Given the description of an element on the screen output the (x, y) to click on. 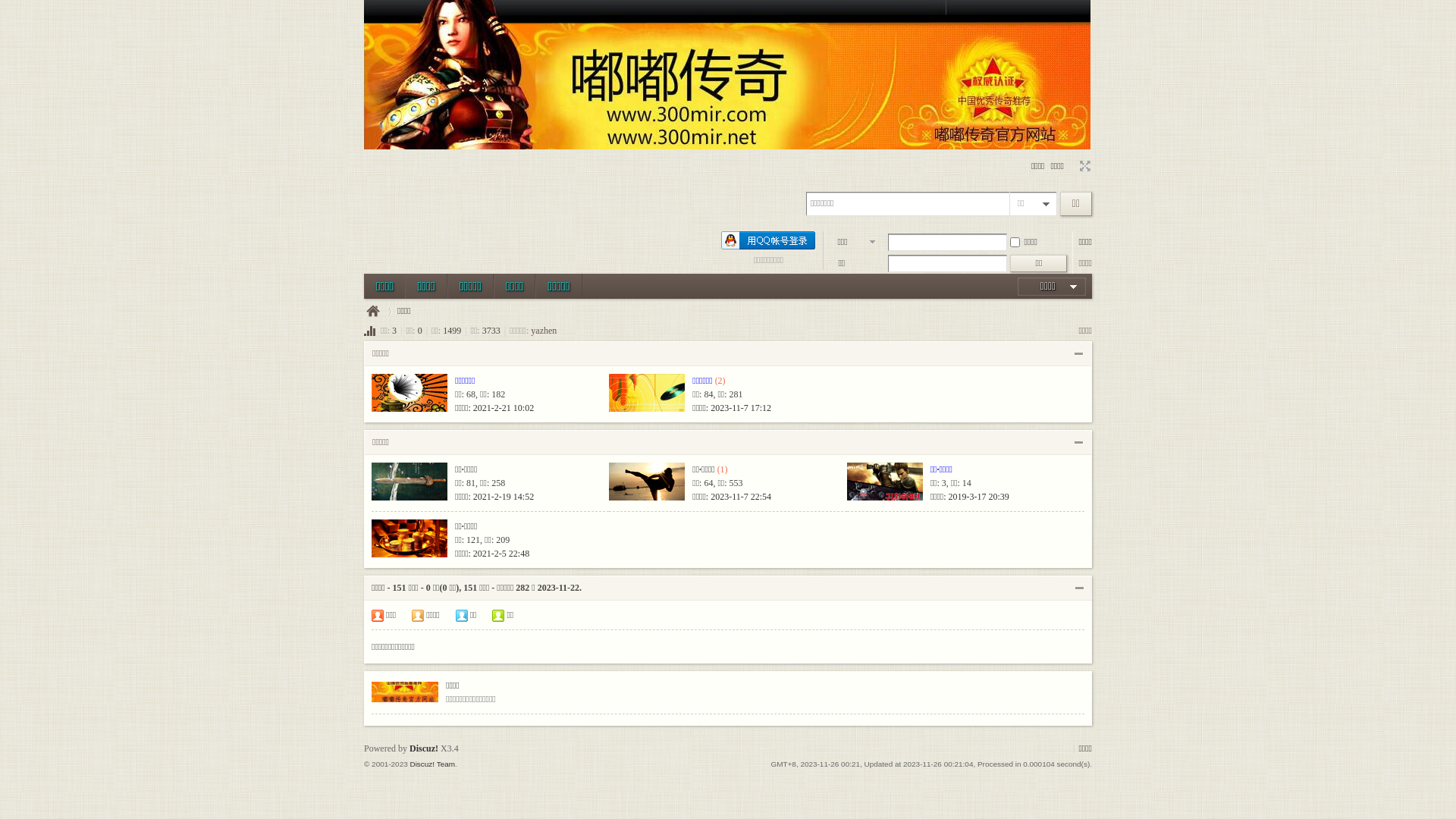
Discuz! Team Element type: text (432, 763)
Discuz! Element type: text (423, 748)
yazhen Element type: text (543, 330)
